Given the description of an element on the screen output the (x, y) to click on. 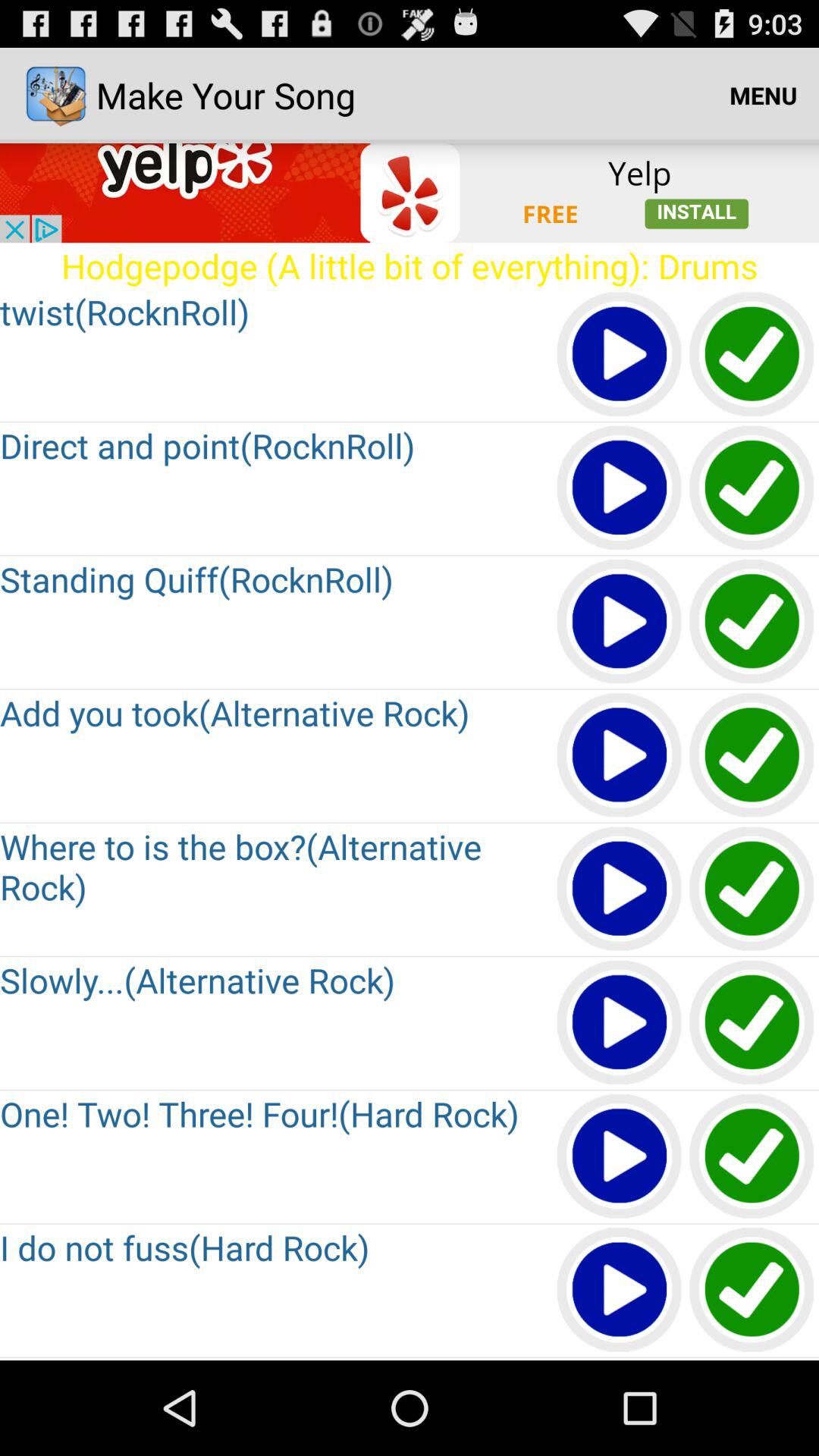
toggle song selection (752, 889)
